Given the description of an element on the screen output the (x, y) to click on. 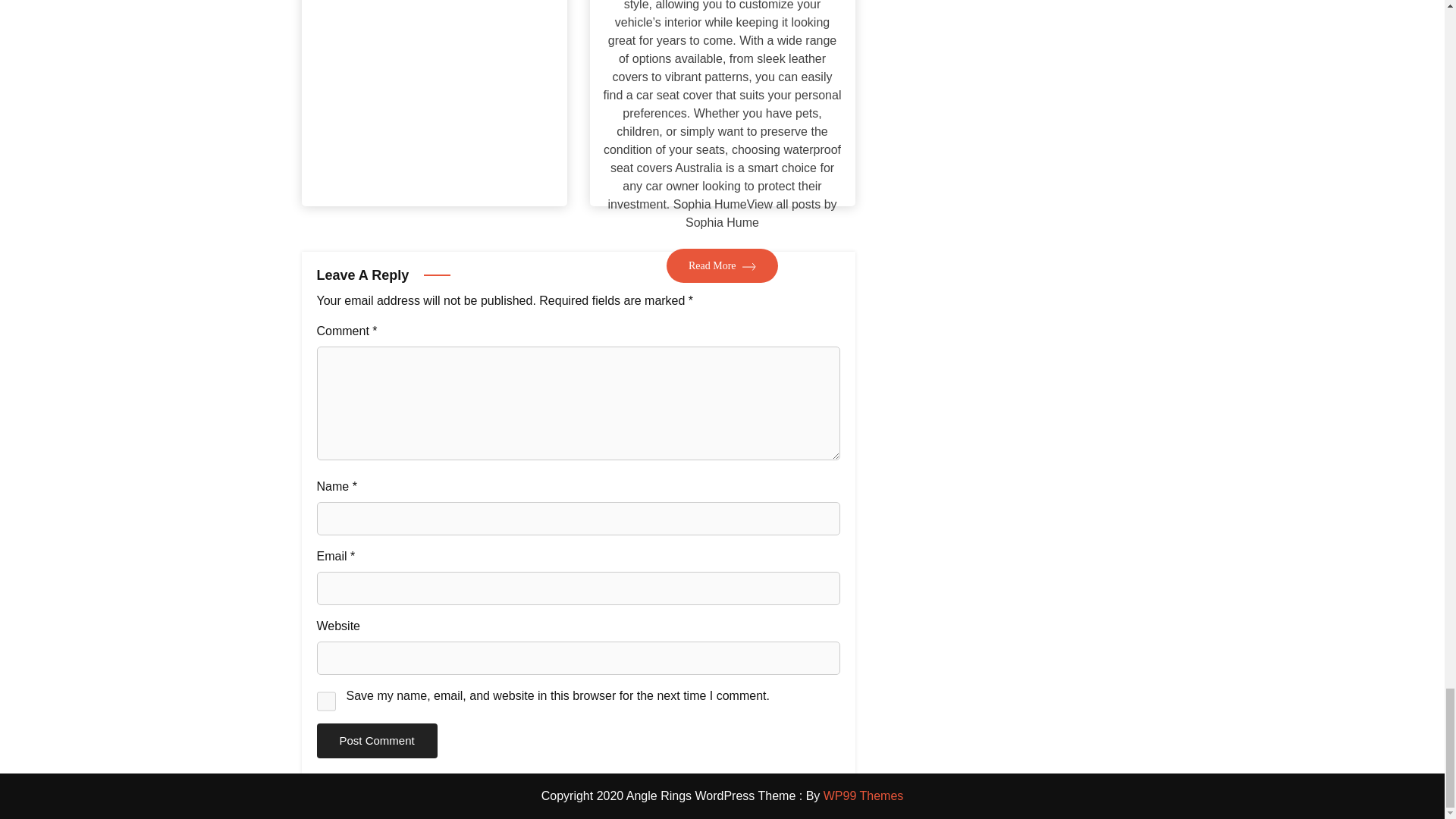
Post Comment (377, 741)
yes (326, 701)
Read More (721, 265)
